Given the description of an element on the screen output the (x, y) to click on. 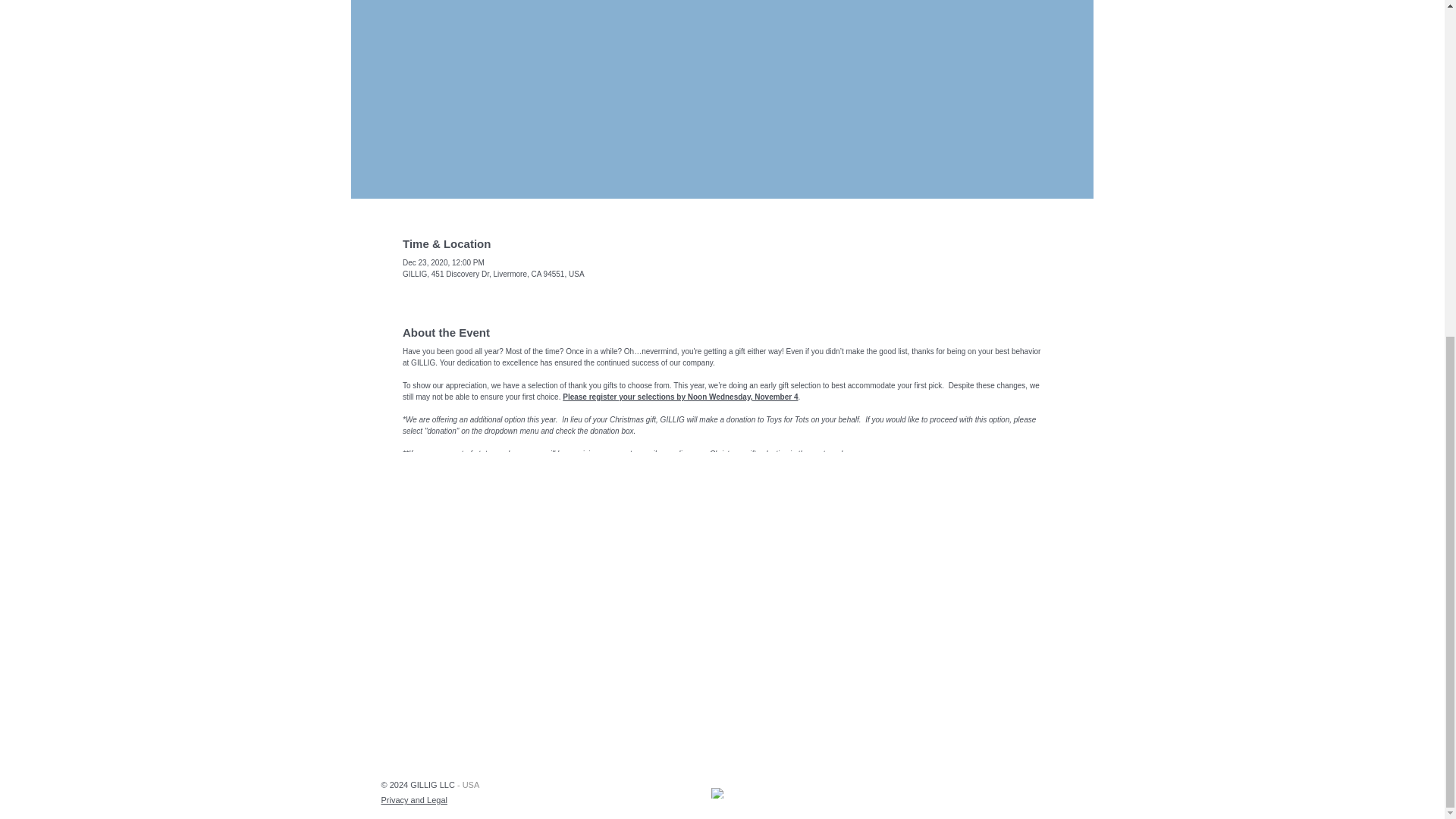
Privacy and Legal (413, 799)
